Given the description of an element on the screen output the (x, y) to click on. 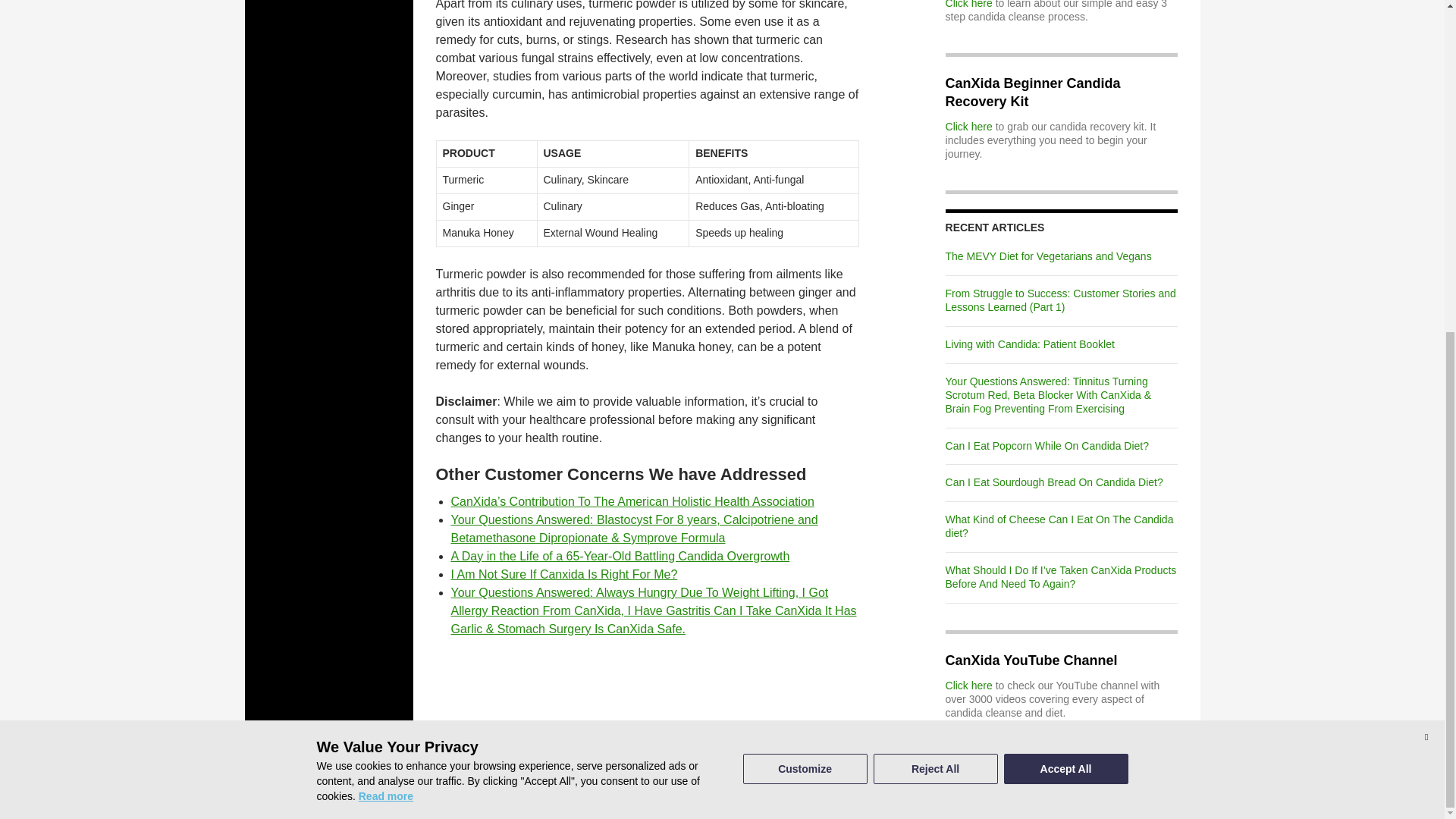
Click here (968, 685)
What Kind of Cheese Can I Eat On The Candida diet? (1058, 525)
Can I Eat Sourdough Bread On Candida Diet? (1053, 481)
I Am Not Sure If Canxida Is Right For Me? (563, 574)
The MEVY Diet for Vegetarians and Vegans (1047, 256)
Can I Eat Popcorn While On Candida Diet? (1046, 444)
Click here (968, 4)
Click here (968, 126)
